Given the description of an element on the screen output the (x, y) to click on. 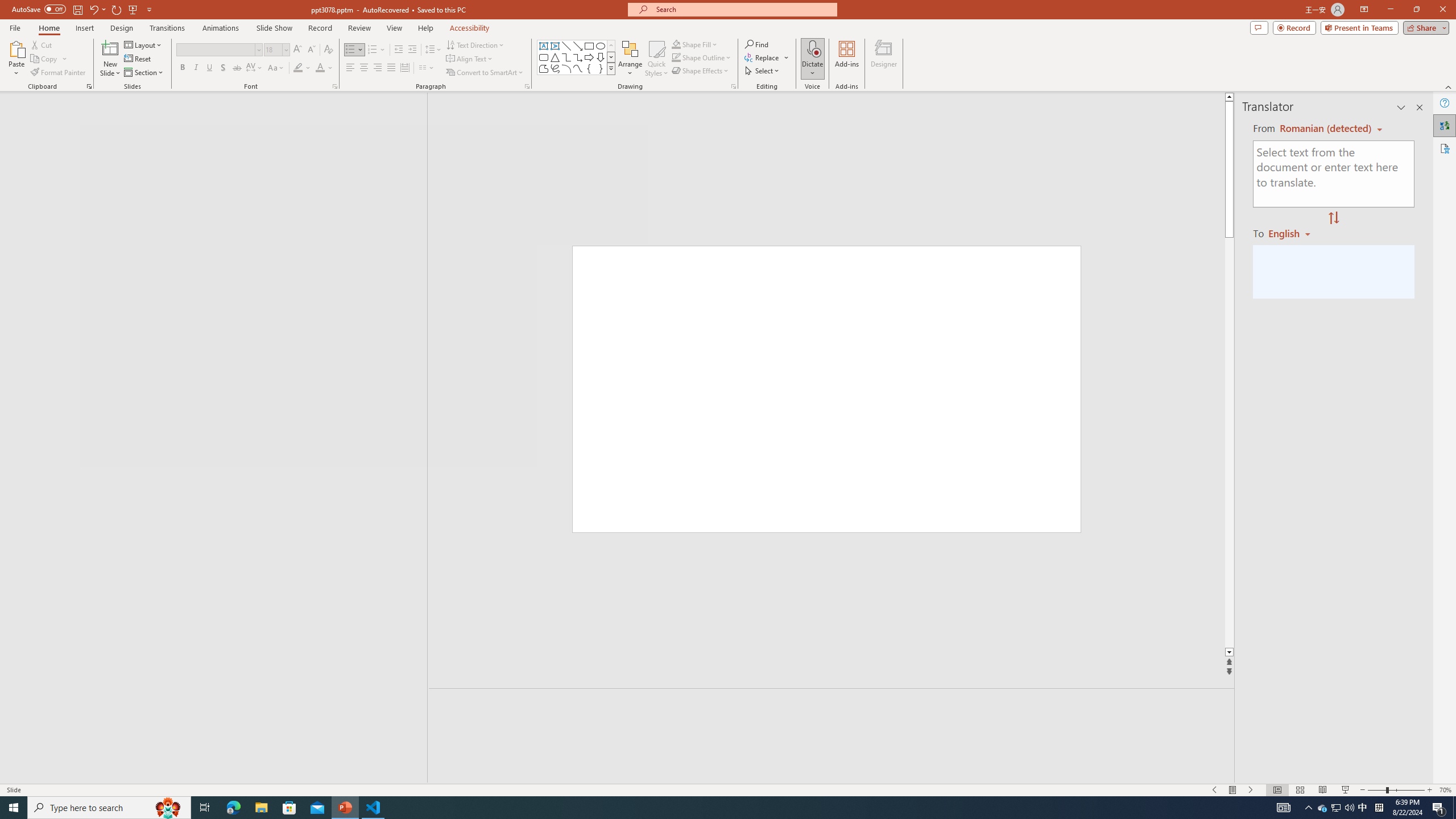
Format Object... (733, 85)
Slide Show Next On (1250, 790)
Font (219, 49)
Redo (117, 9)
Office Clipboard... (88, 85)
Find... (756, 44)
Convert to SmartArt (485, 72)
Reset (138, 58)
Shape Outline (701, 56)
Quick Access Toolbar (82, 9)
Shape Fill Dark Green, Accent 2 (675, 44)
Numbering (376, 49)
